Given the description of an element on the screen output the (x, y) to click on. 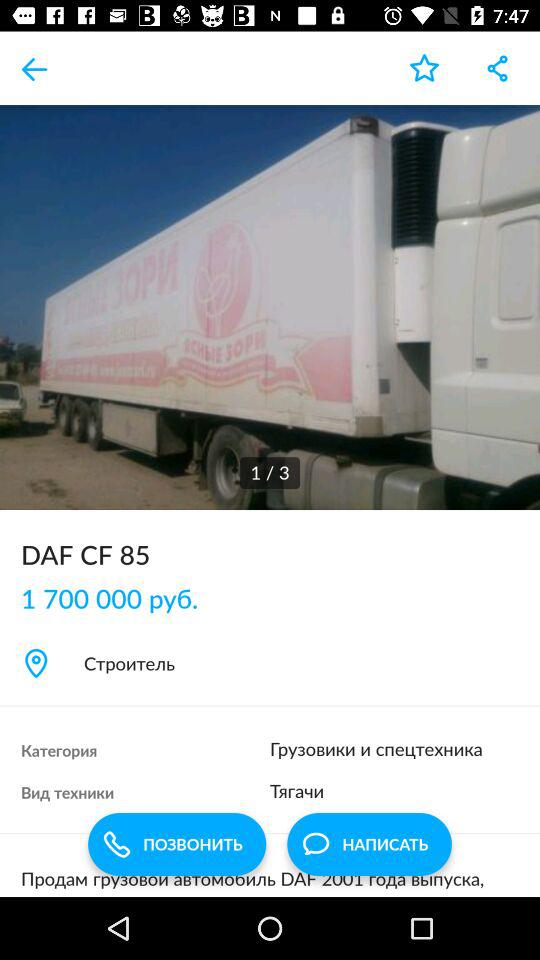
launch the item below the 1 700 000 item (270, 663)
